Given the description of an element on the screen output the (x, y) to click on. 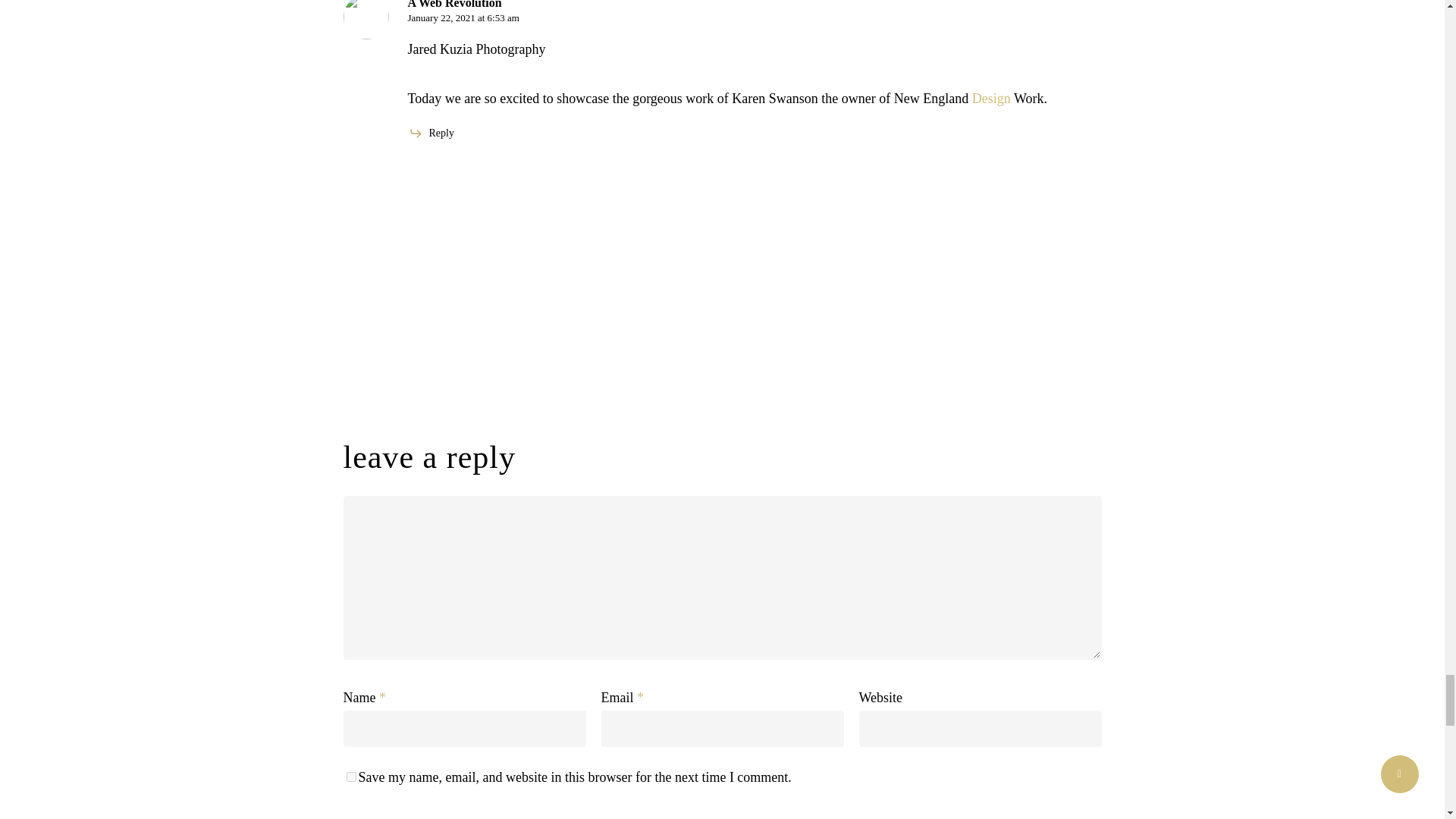
yes (350, 777)
